Given the description of an element on the screen output the (x, y) to click on. 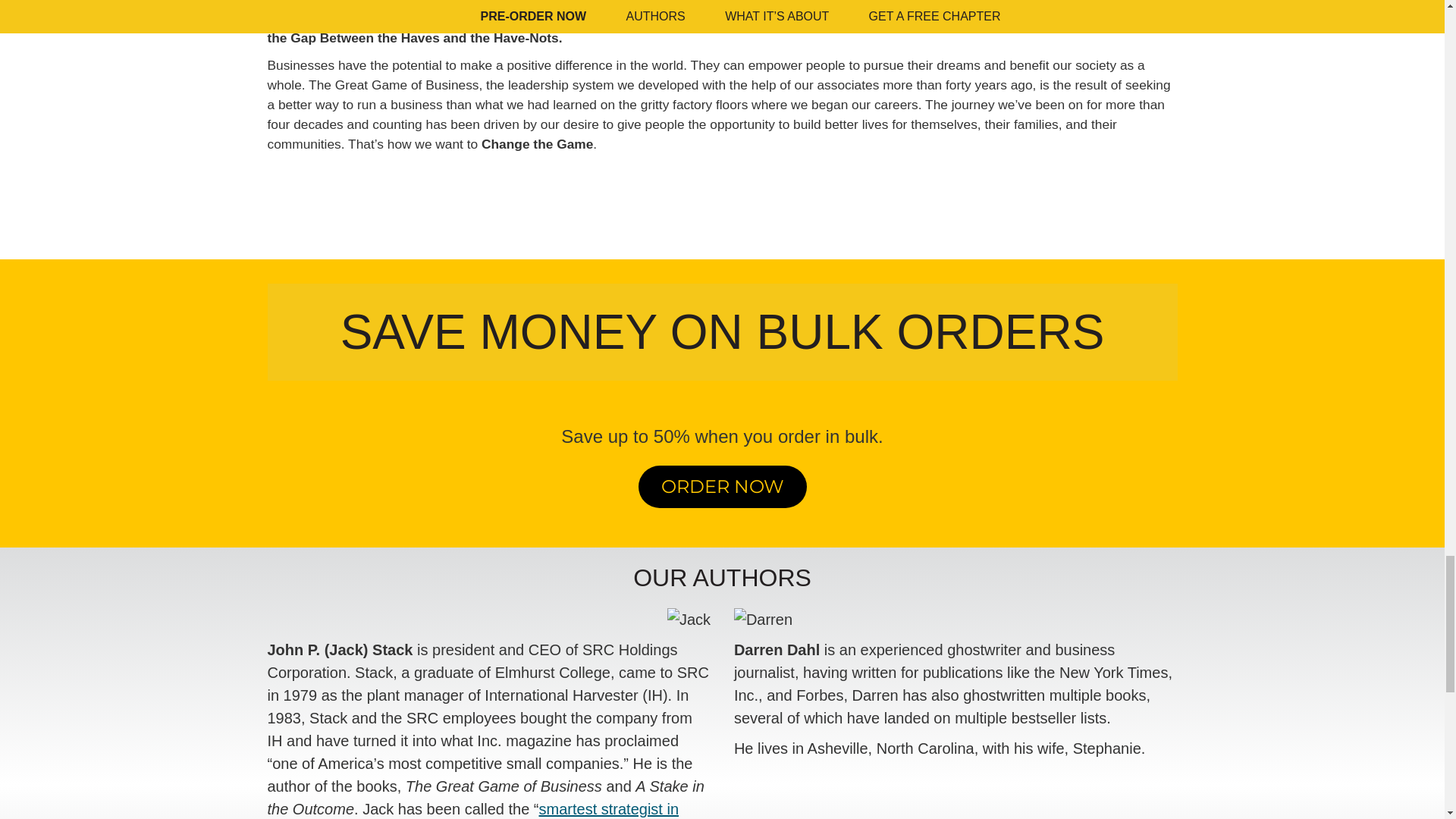
Jack (688, 619)
smartest strategist in America (472, 809)
Darren (762, 619)
